Given the description of an element on the screen output the (x, y) to click on. 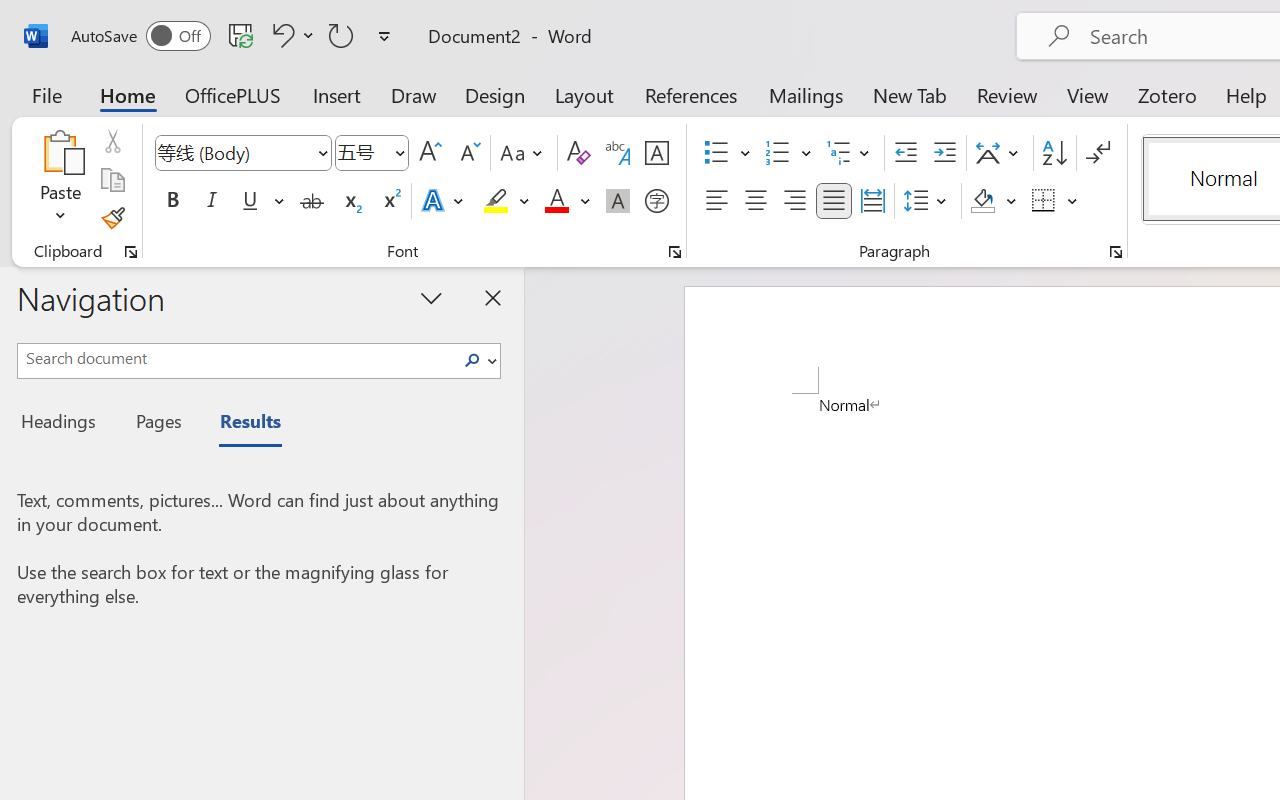
Results (240, 424)
Home (127, 94)
Asian Layout (1000, 153)
Line and Paragraph Spacing (927, 201)
Class: NetUIImage (471, 360)
Center (756, 201)
Borders (1055, 201)
OfficePLUS (233, 94)
Open (399, 152)
Insert (337, 94)
Copy (112, 179)
File Tab (46, 94)
Decrease Indent (906, 153)
New Tab (909, 94)
Text Highlight Color Yellow (495, 201)
